Given the description of an element on the screen output the (x, y) to click on. 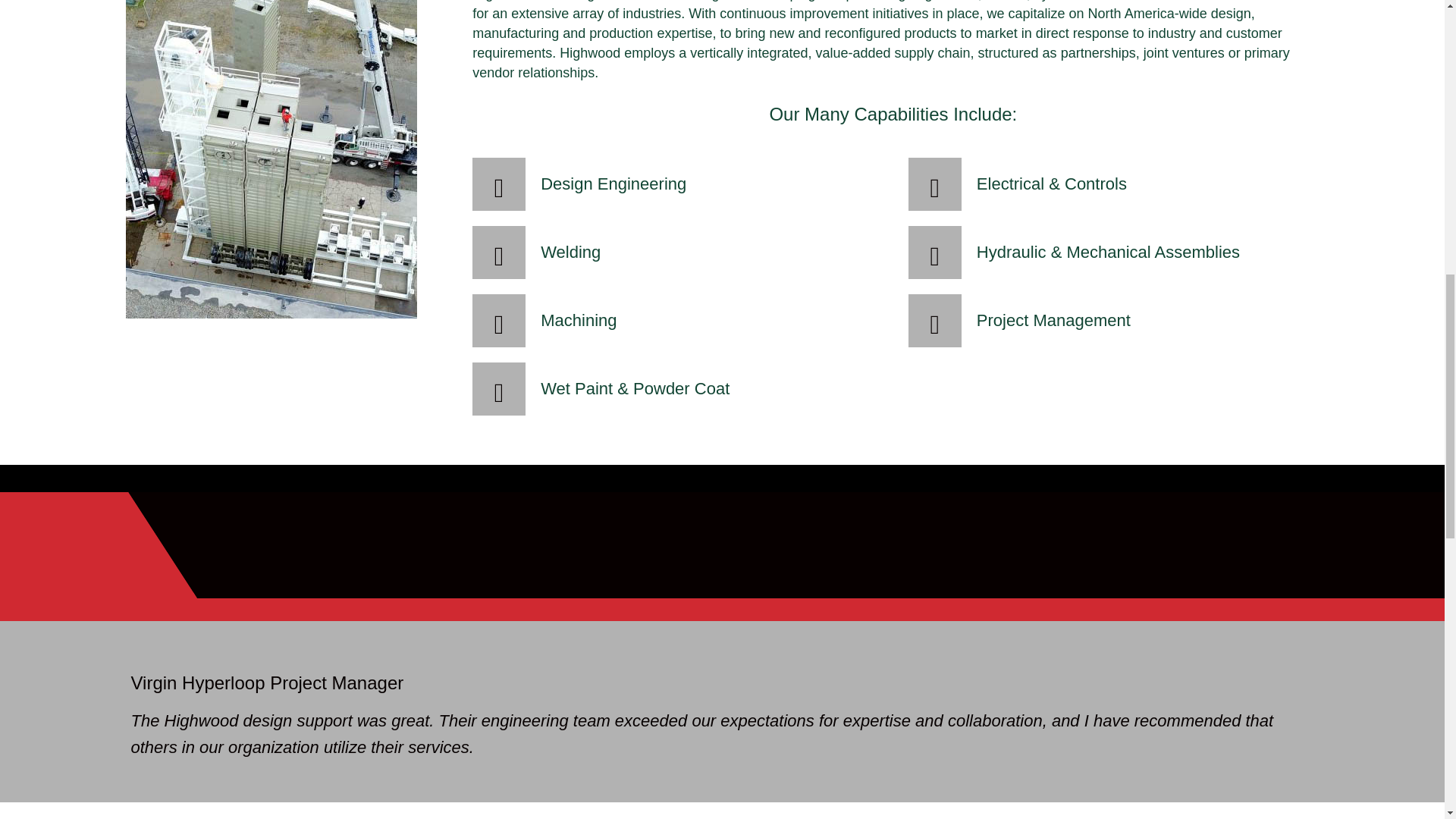
Platform 2 (270, 159)
